Given the description of an element on the screen output the (x, y) to click on. 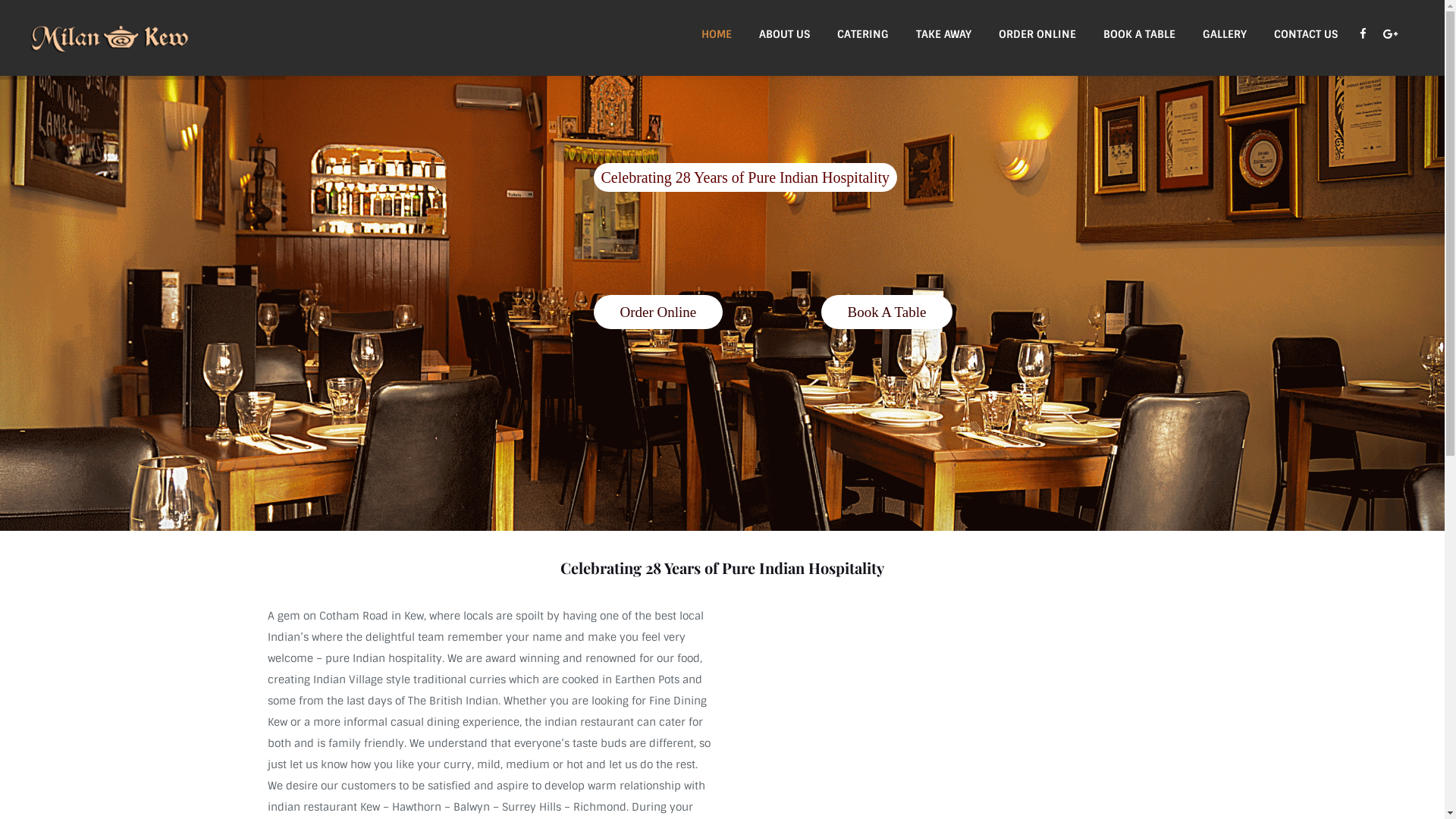
TAKE AWAY Element type: text (943, 34)
ABOUT US Element type: text (784, 34)
Milanatkew Element type: hover (110, 37)
GALLERY Element type: text (1224, 34)
Facebook Element type: hover (1362, 33)
Order Online Element type: text (657, 311)
CONTACT US Element type: text (1305, 34)
HOME Element type: text (716, 34)
CATERING Element type: text (862, 34)
BOOK A TABLE Element type: text (1139, 34)
Google+ Element type: hover (1389, 33)
Book A Table Element type: text (886, 311)
ORDER ONLINE Element type: text (1037, 34)
